Given the description of an element on the screen output the (x, y) to click on. 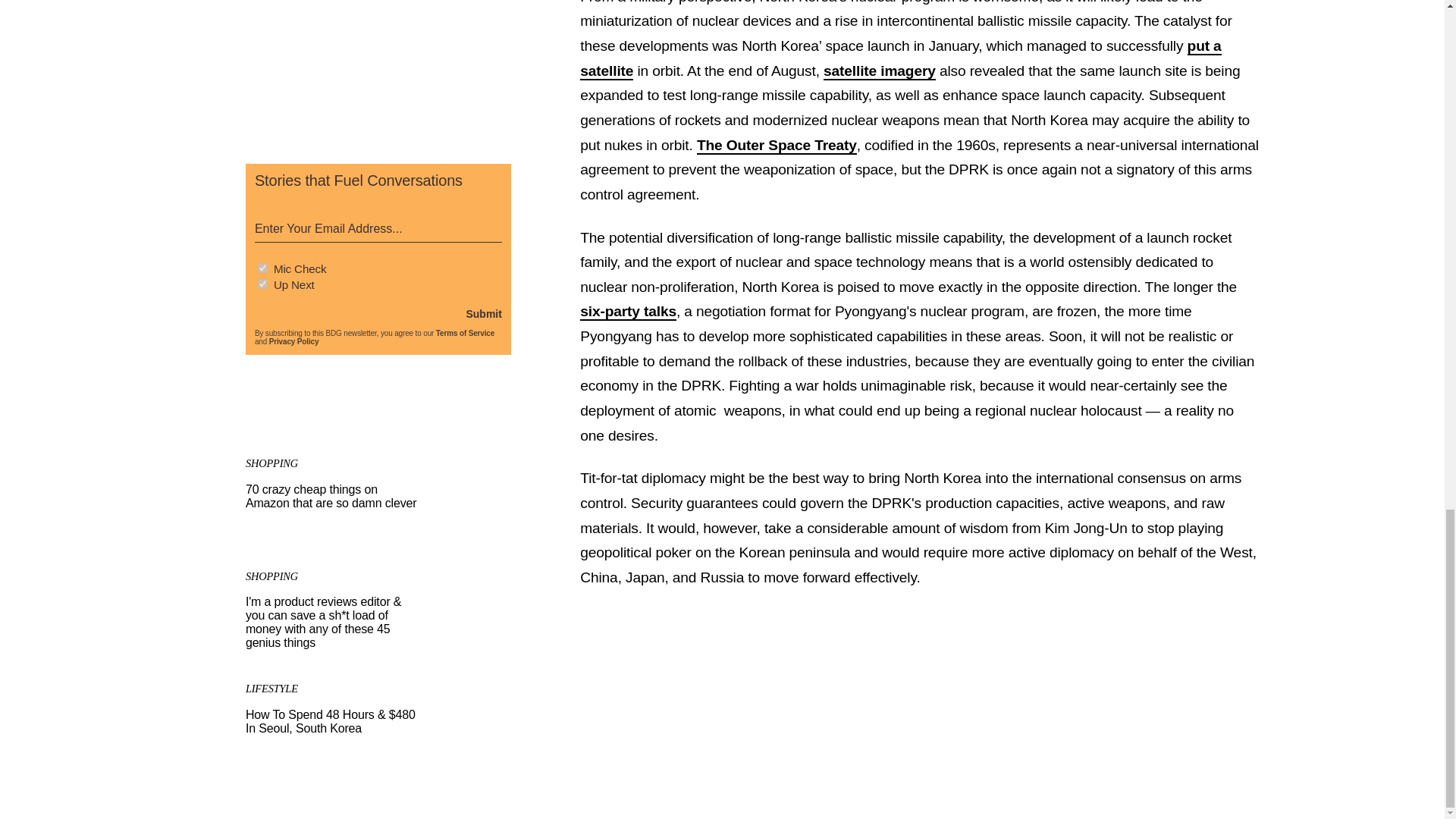
satellite imagery (880, 71)
Terms of Service (465, 333)
put a satellite (900, 58)
six-party talks (628, 312)
The Outer Space Treaty (777, 145)
Privacy Policy (293, 341)
Submit (482, 313)
